Given the description of an element on the screen output the (x, y) to click on. 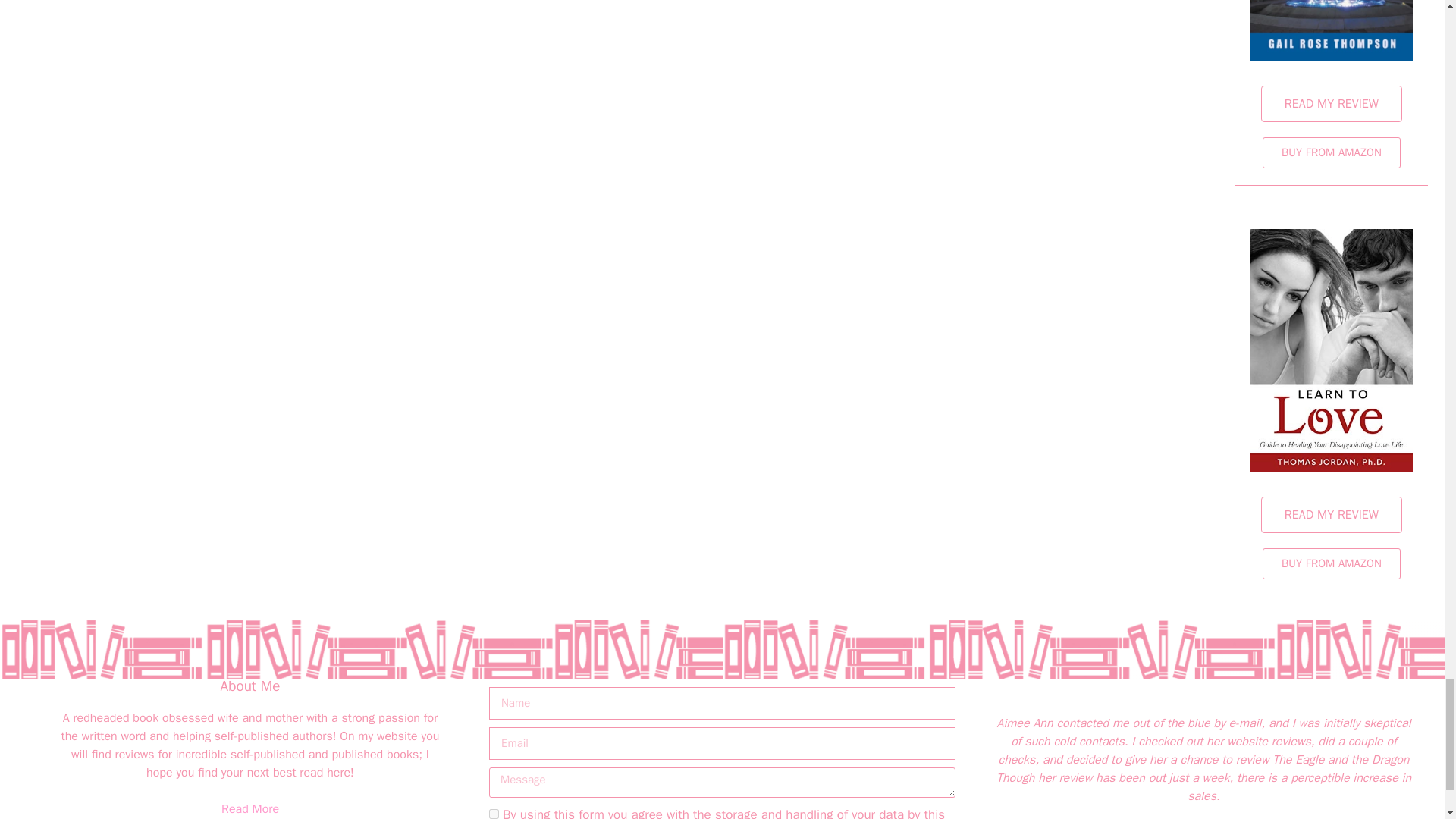
on (494, 814)
